Given the description of an element on the screen output the (x, y) to click on. 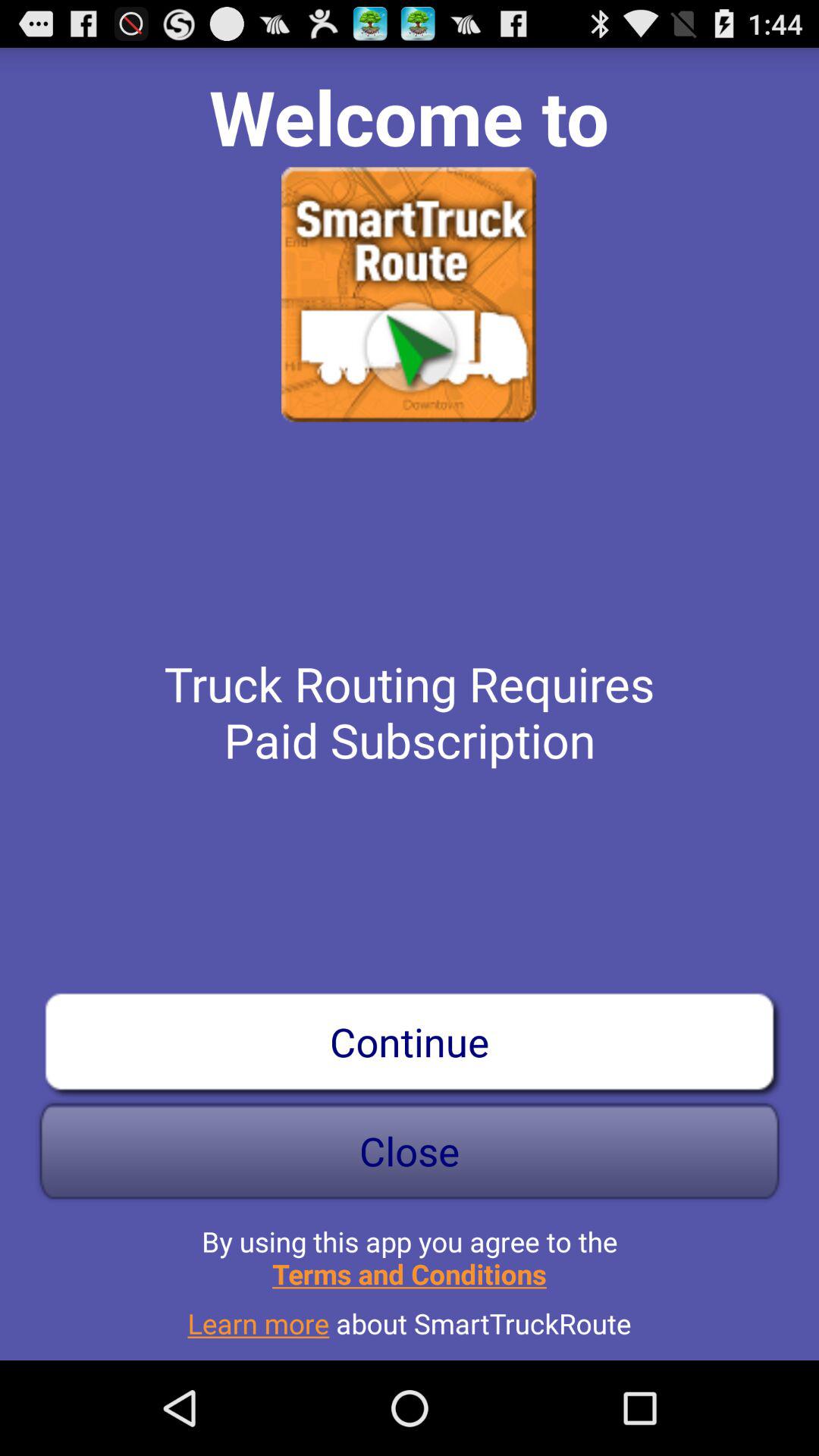
select the learn more about (409, 1317)
